Given the description of an element on the screen output the (x, y) to click on. 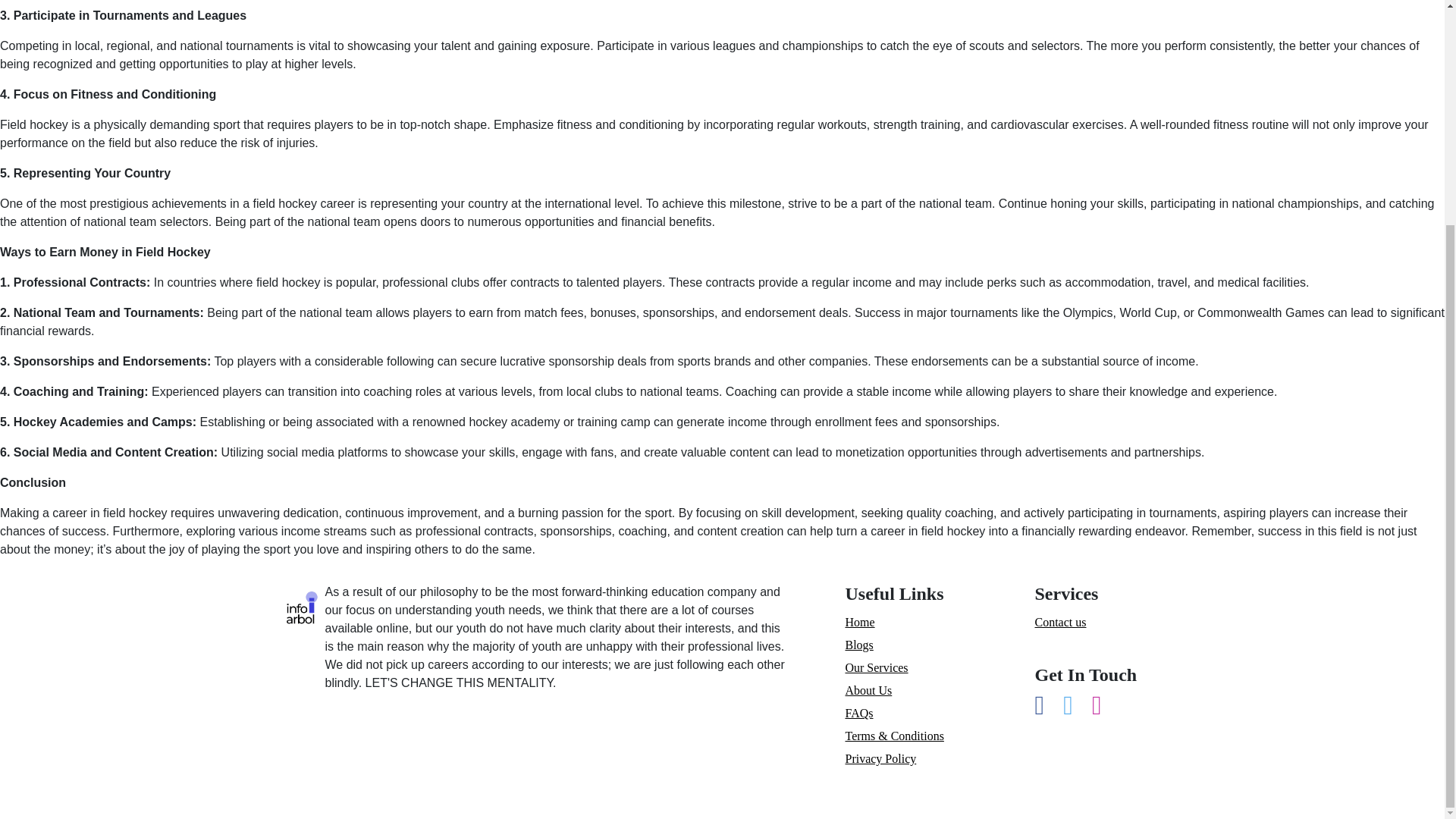
FAQs (858, 712)
About Us (867, 689)
Home (859, 621)
Privacy Policy (879, 758)
Contact us (1059, 621)
Blogs (858, 644)
Our Services (875, 667)
